Given the description of an element on the screen output the (x, y) to click on. 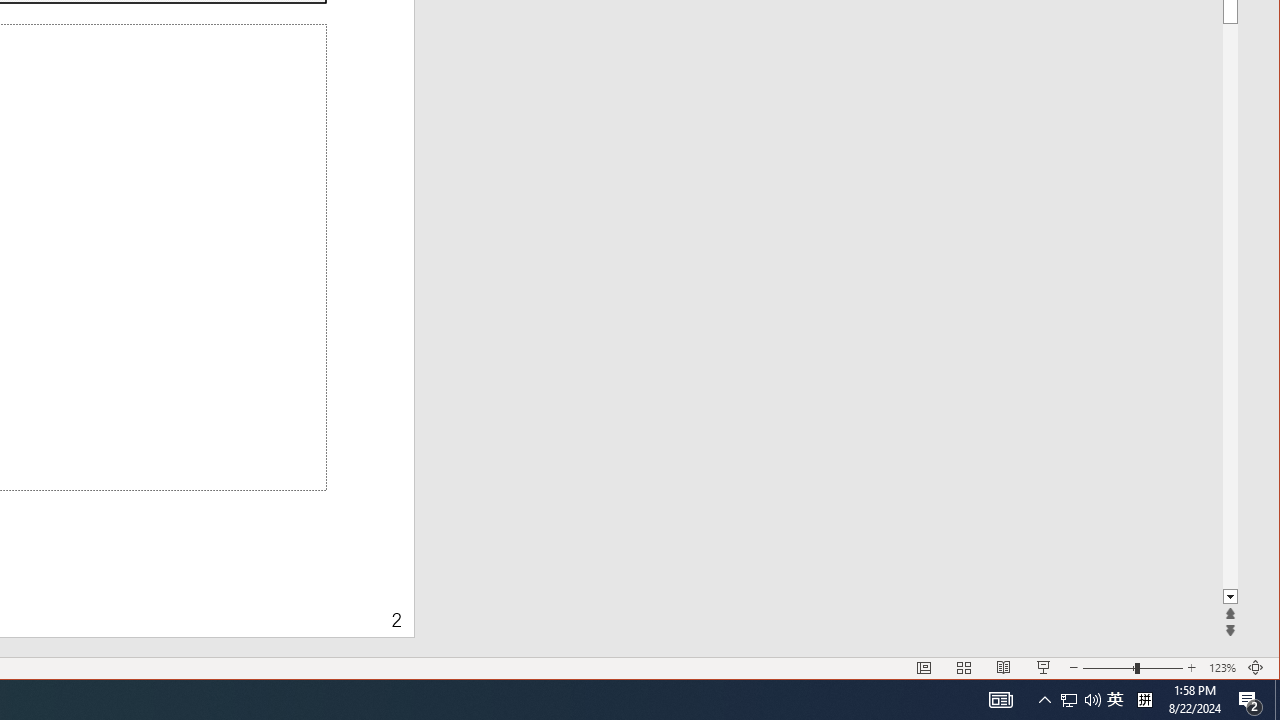
Page Number (221, 607)
